Given the description of an element on the screen output the (x, y) to click on. 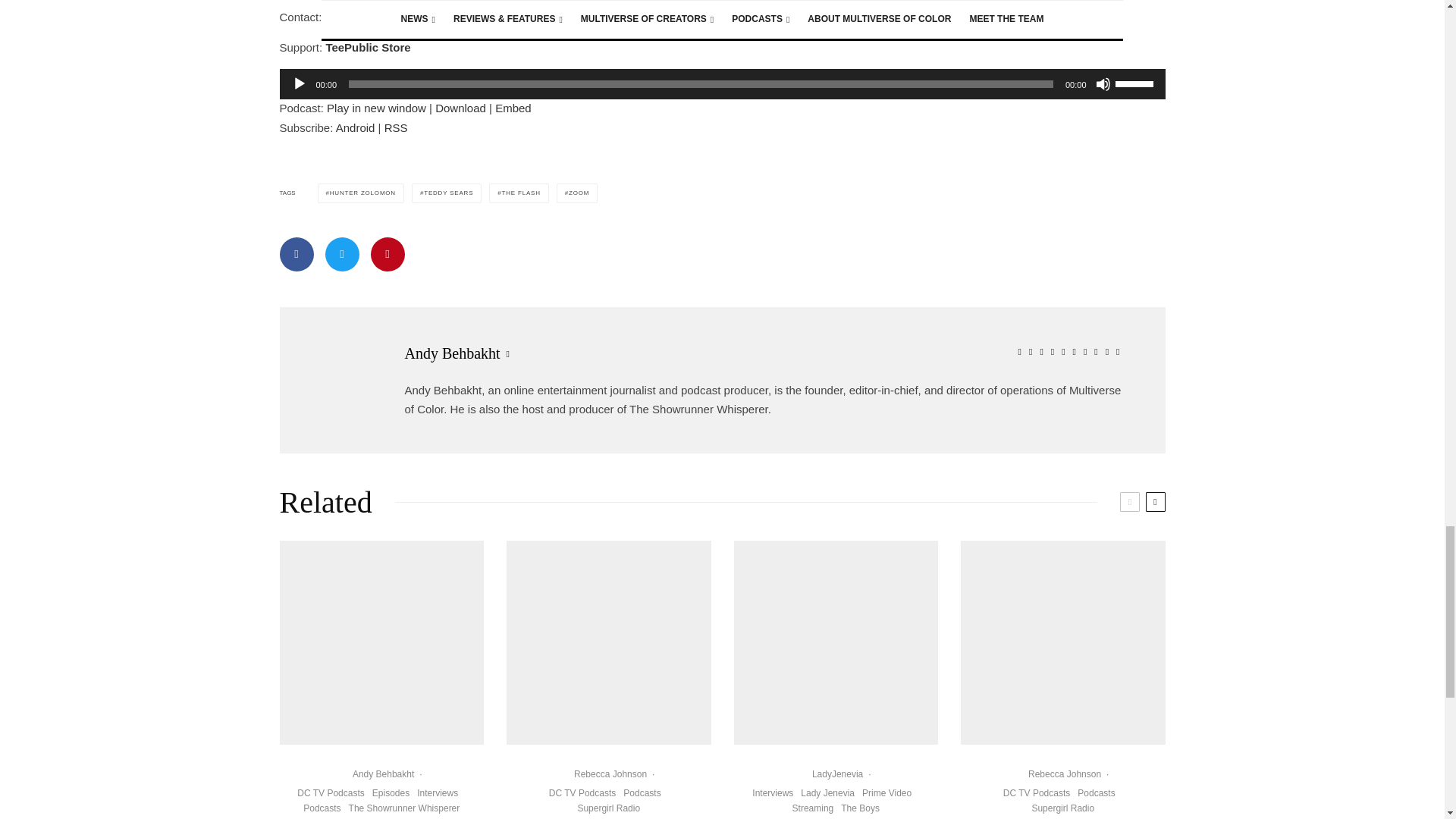
Mute (1101, 83)
Play in new window (376, 107)
Subscribe via RSS (395, 127)
Play (298, 83)
Subscribe on Android (355, 127)
Download (460, 107)
Embed (513, 107)
